Given the description of an element on the screen output the (x, y) to click on. 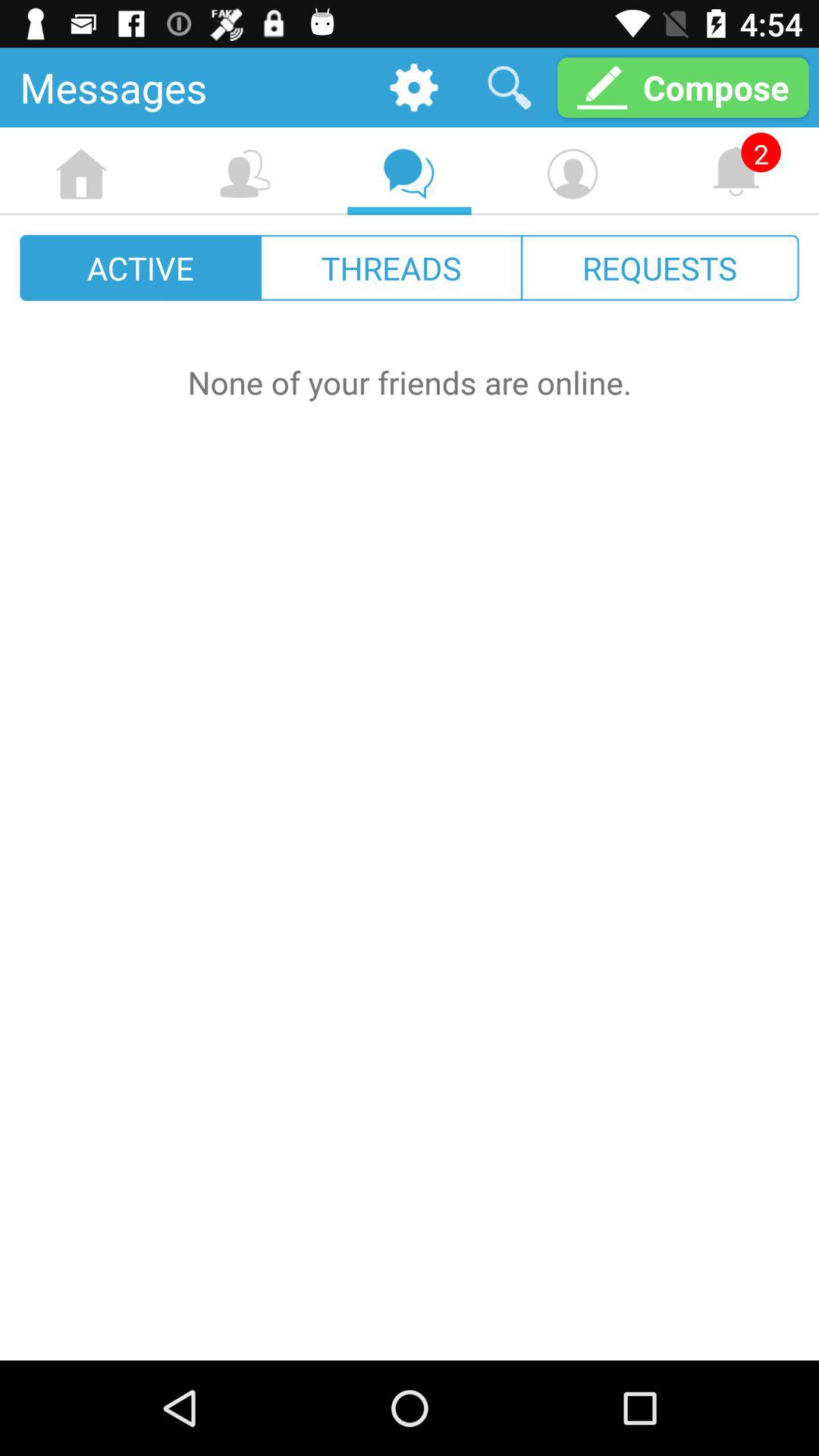
launch active (140, 267)
